Given the description of an element on the screen output the (x, y) to click on. 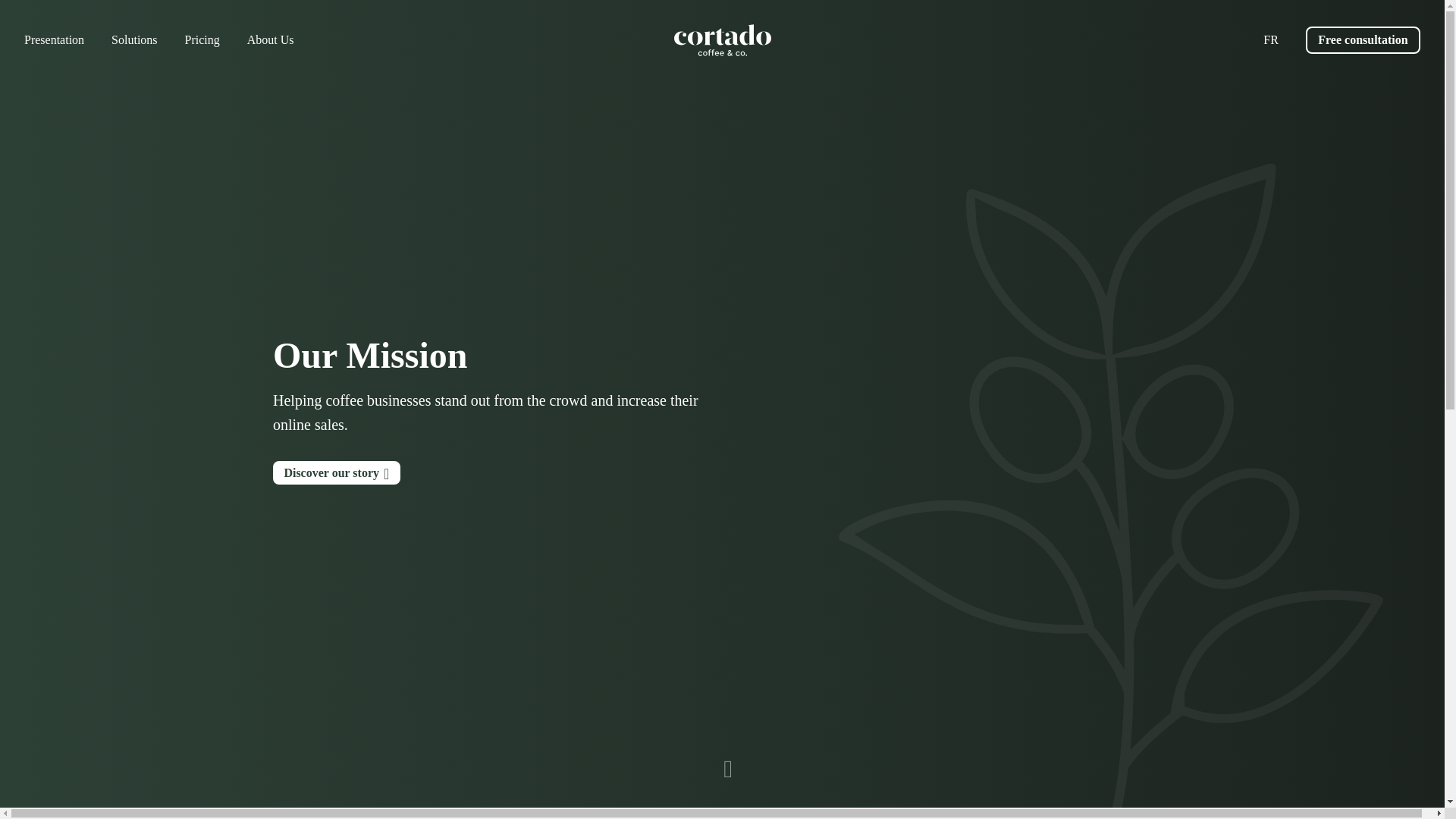
Presentation (54, 39)
Discover our story (336, 473)
About Us (270, 39)
Solutions (134, 39)
Presentation (336, 473)
Accueil (721, 40)
Prices (201, 39)
Solutions (134, 39)
Presentation (54, 39)
Pricing (201, 39)
About Us (270, 39)
